Given the description of an element on the screen output the (x, y) to click on. 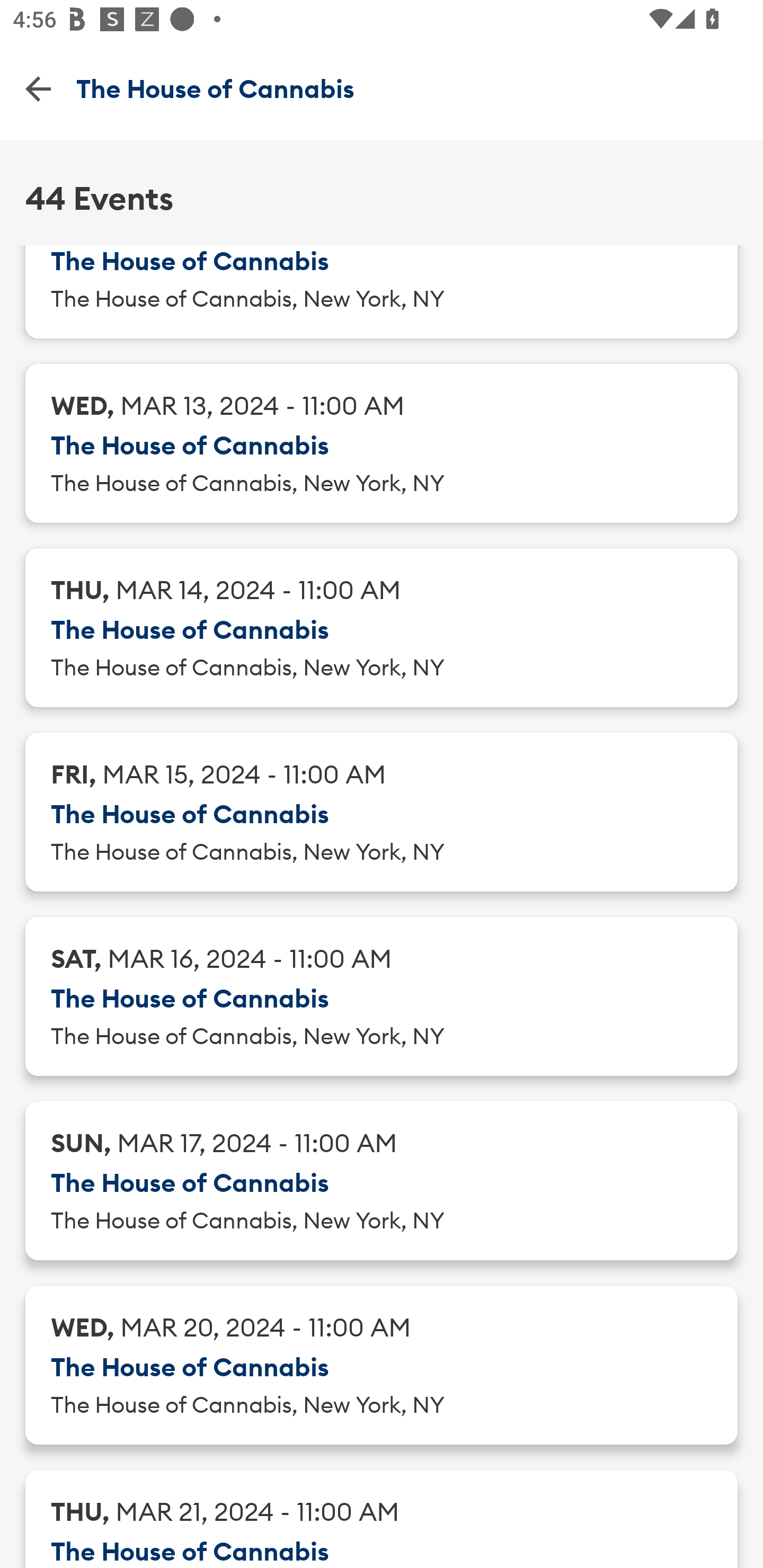
Back (38, 88)
THU, MAR 21, 2024 - 11:00 AM The House of Cannabis (381, 1519)
